Given the description of an element on the screen output the (x, y) to click on. 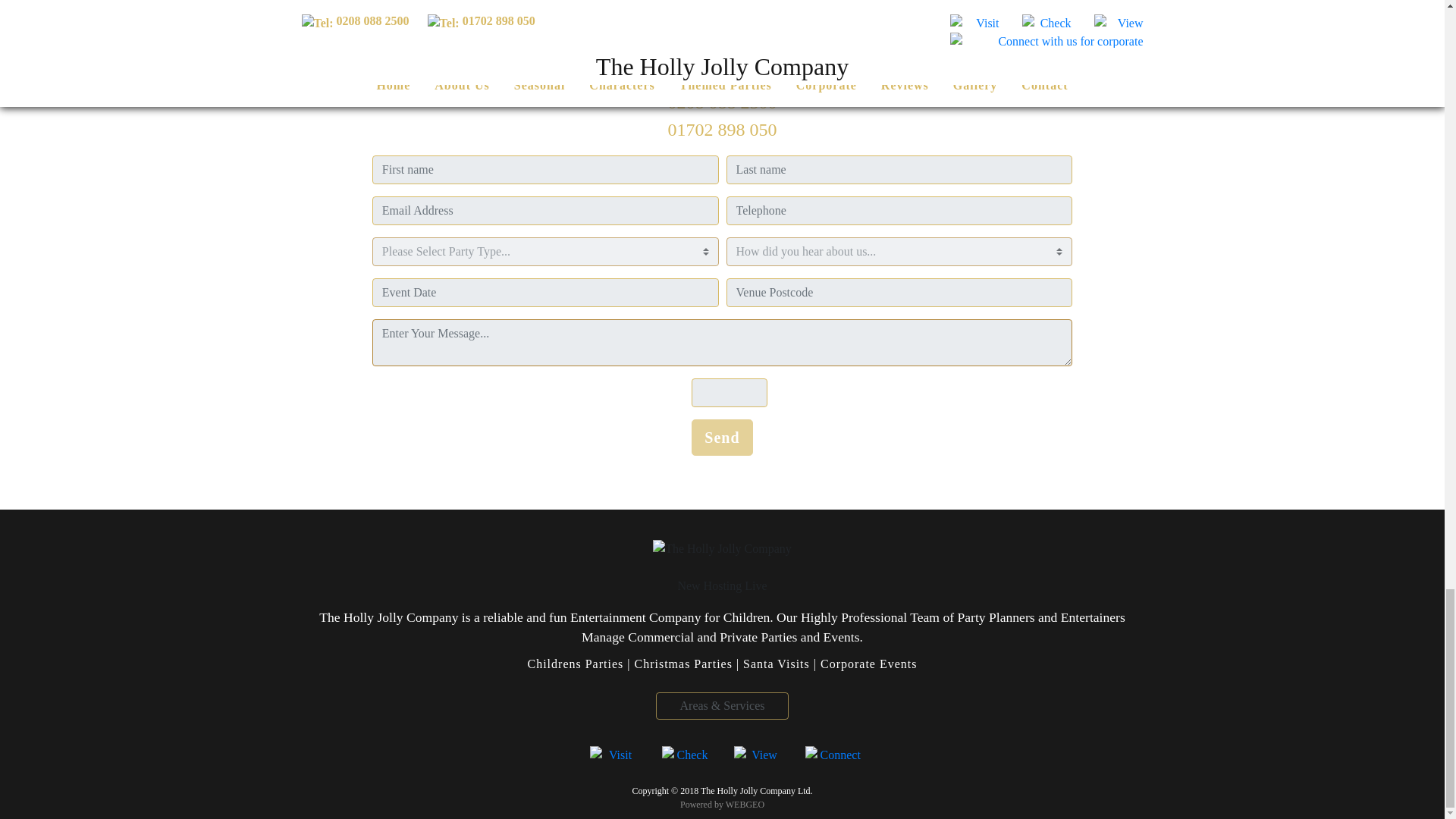
Send (721, 437)
